Given the description of an element on the screen output the (x, y) to click on. 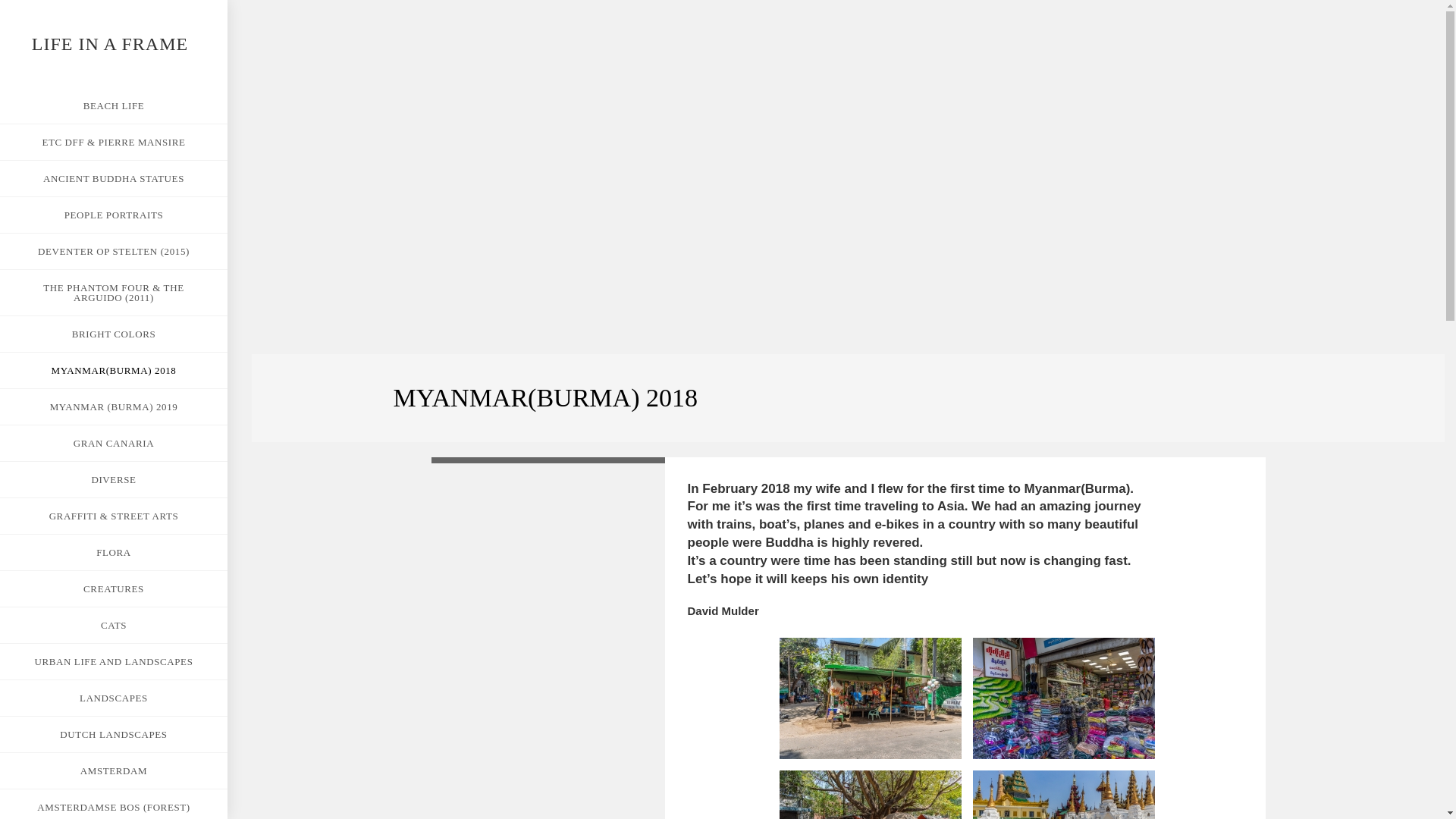
PEOPLE PORTRAITS (113, 214)
BEACH LIFE (113, 105)
DIVERSE (113, 479)
CATS (113, 624)
URBAN LIFE AND LANDSCAPES (113, 661)
GRAN CANARIA (113, 443)
DUTCH LANDSCAPES (113, 734)
LIFE IN A FRAME (109, 44)
FLORA (113, 552)
CREATURES (113, 588)
ANCIENT BUDDHA STATUES (113, 178)
BRIGHT COLORS (113, 334)
LANDSCAPES (113, 697)
AMSTERDAM (113, 770)
